Given the description of an element on the screen output the (x, y) to click on. 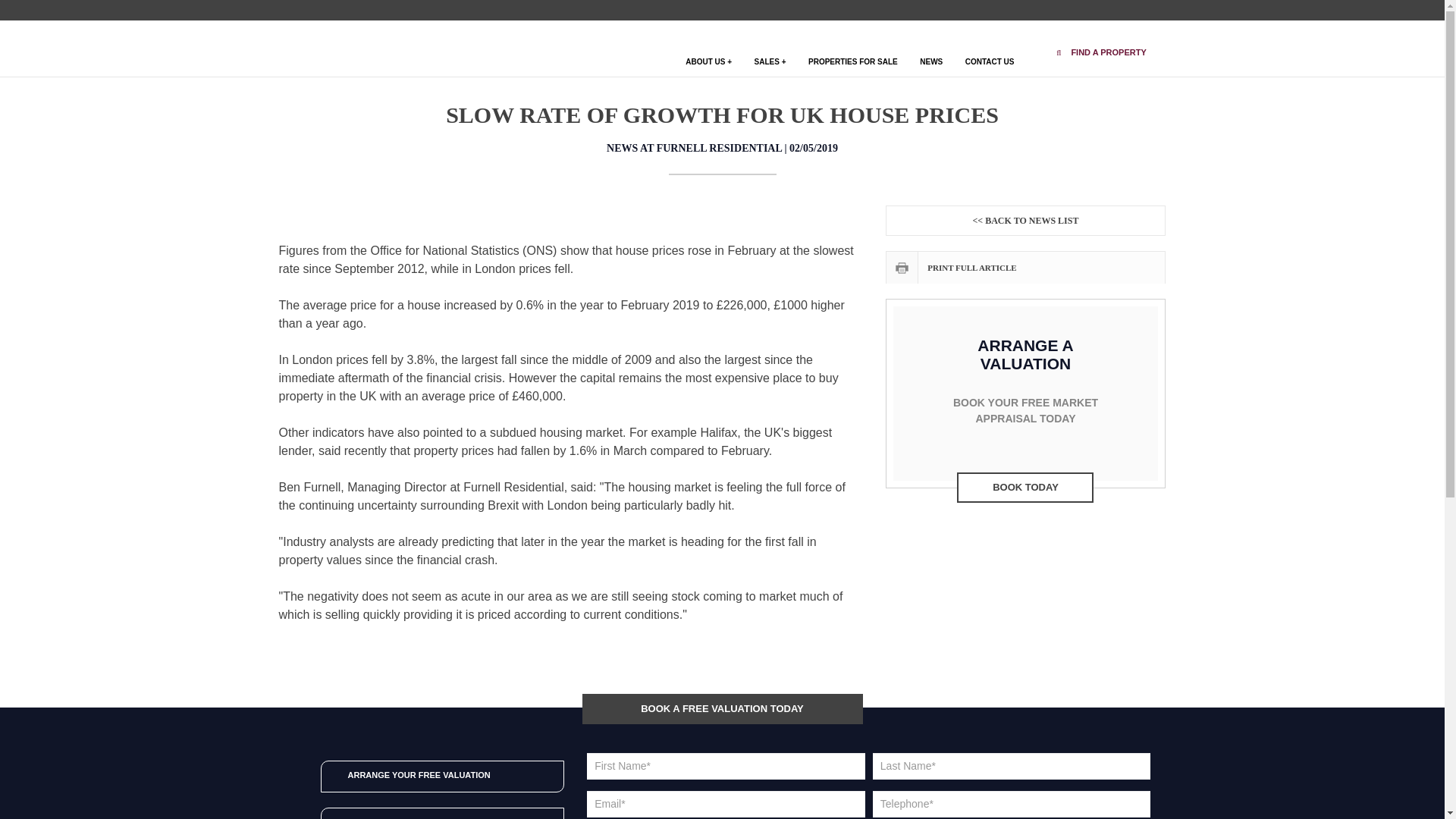
NEWS (931, 69)
CONTACT US (989, 69)
BOOK A FREE VALUATION TODAY (722, 708)
PRINT FULL ARTICLE (1024, 267)
PROPERTIES FOR SALE (853, 69)
FIND A PROPERTY (1101, 48)
BOOK TODAY (1024, 487)
